Given the description of an element on the screen output the (x, y) to click on. 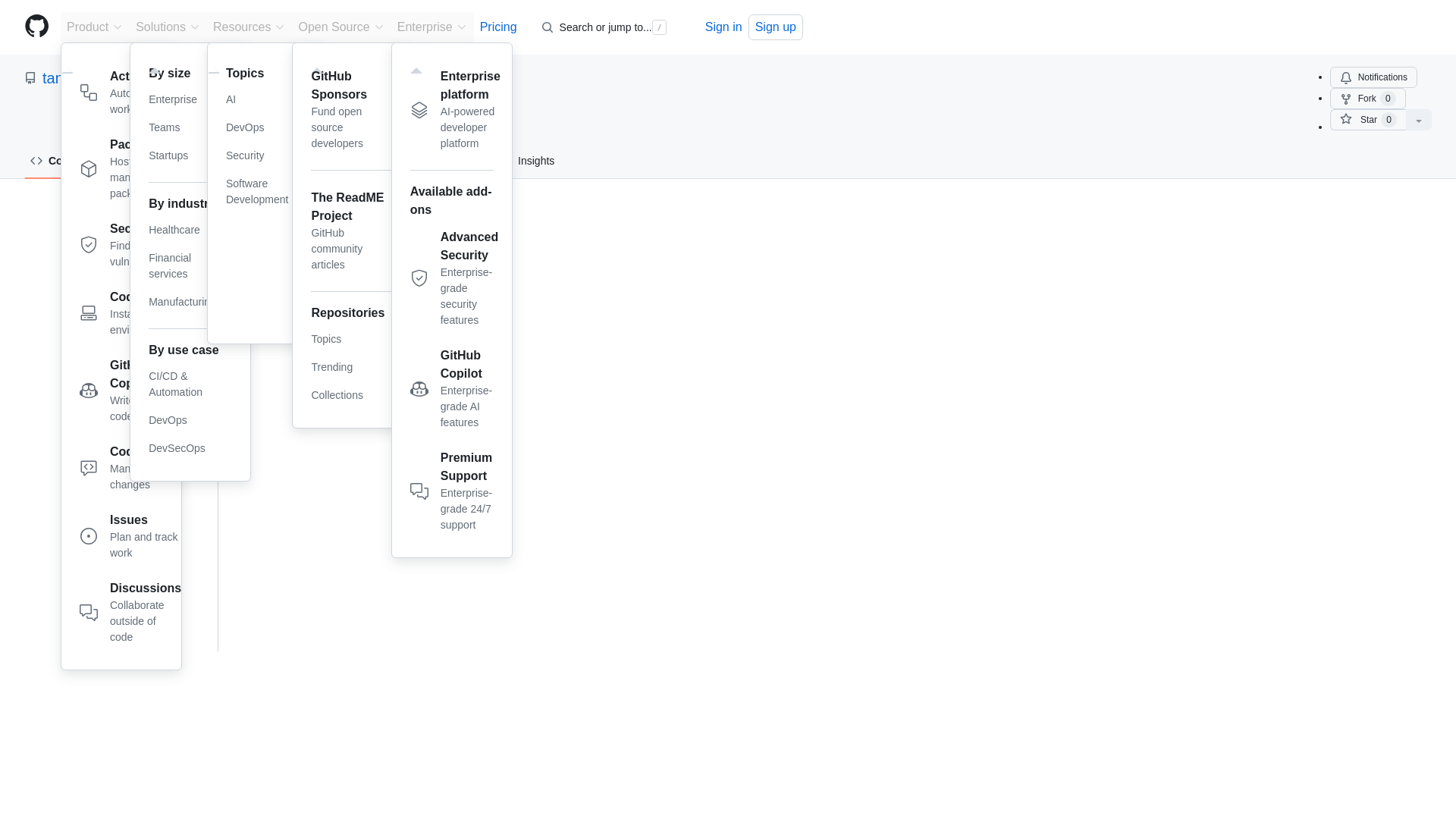
GitHub Skills (271, 179)
Financial services (189, 266)
Resources (249, 27)
Startups (130, 95)
Teams (189, 155)
Healthcare (189, 127)
Customer Stories (130, 247)
Security (189, 230)
Partners (366, 259)
Solutions (256, 155)
DevOps (366, 303)
